Given the description of an element on the screen output the (x, y) to click on. 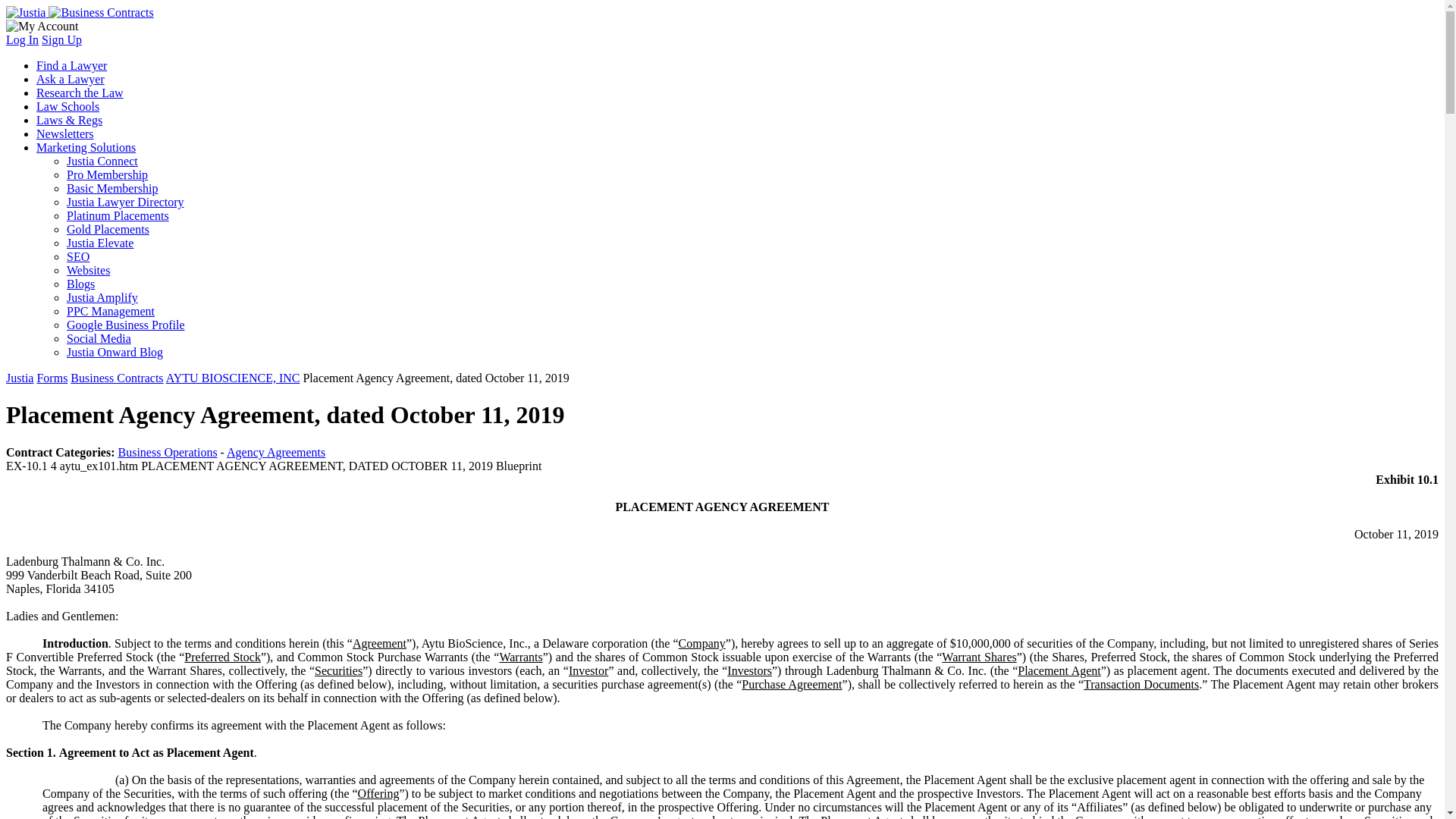
Business Contracts (116, 377)
Pro Membership (107, 174)
PPC Management (110, 310)
Forms (51, 377)
Marketing Solutions (85, 146)
Gold Placements (107, 228)
Newsletters (65, 133)
Research the Law (79, 92)
Justia Connect (102, 160)
Ask a Lawyer (70, 78)
Find a Lawyer (71, 65)
Law Schools (67, 106)
Log In (22, 39)
Websites (88, 269)
Blogs (80, 283)
